Given the description of an element on the screen output the (x, y) to click on. 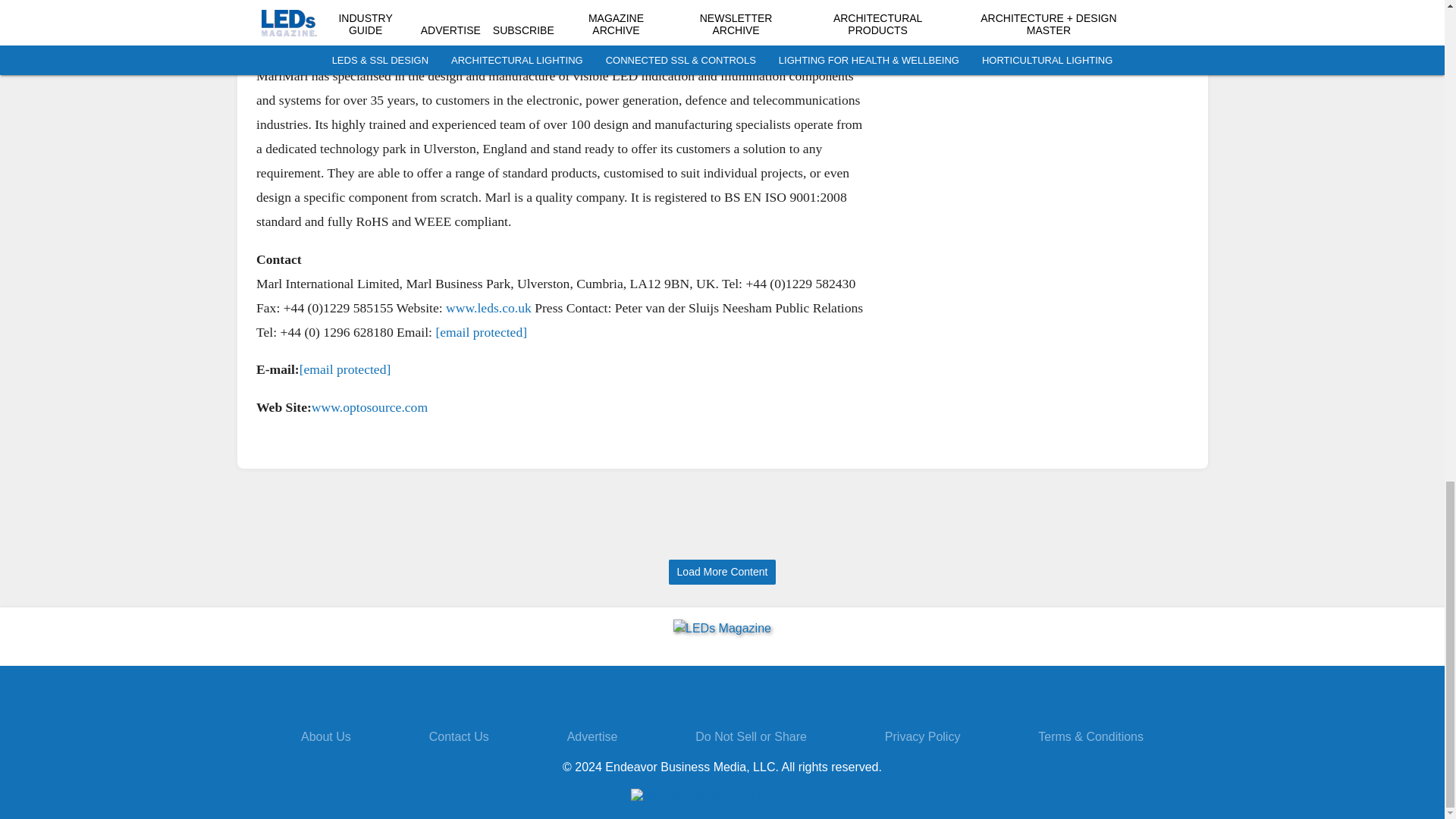
www.leds.co.uk (488, 307)
www.optosource.com (368, 406)
